Given the description of an element on the screen output the (x, y) to click on. 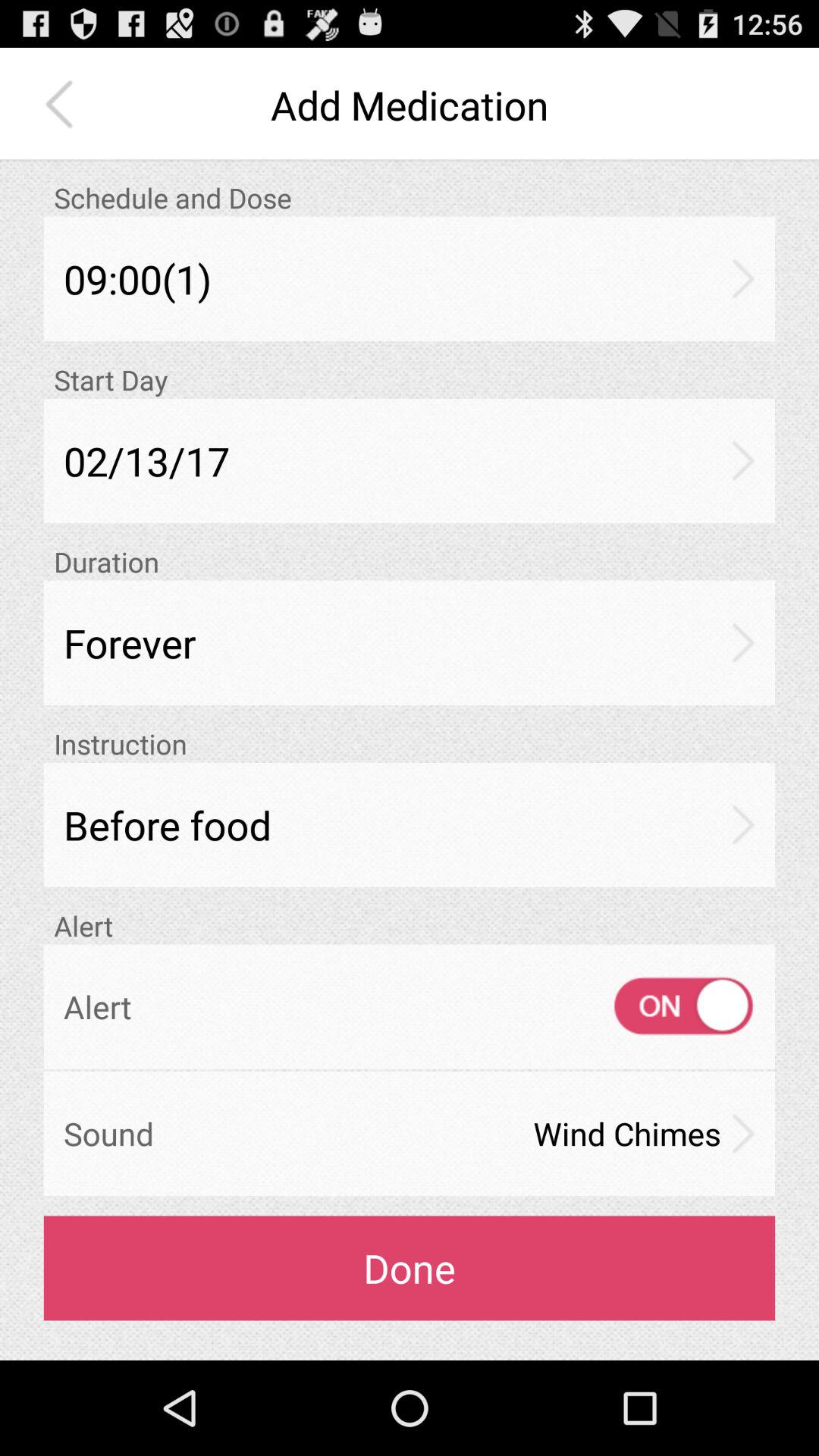
open forever item (409, 642)
